Given the description of an element on the screen output the (x, y) to click on. 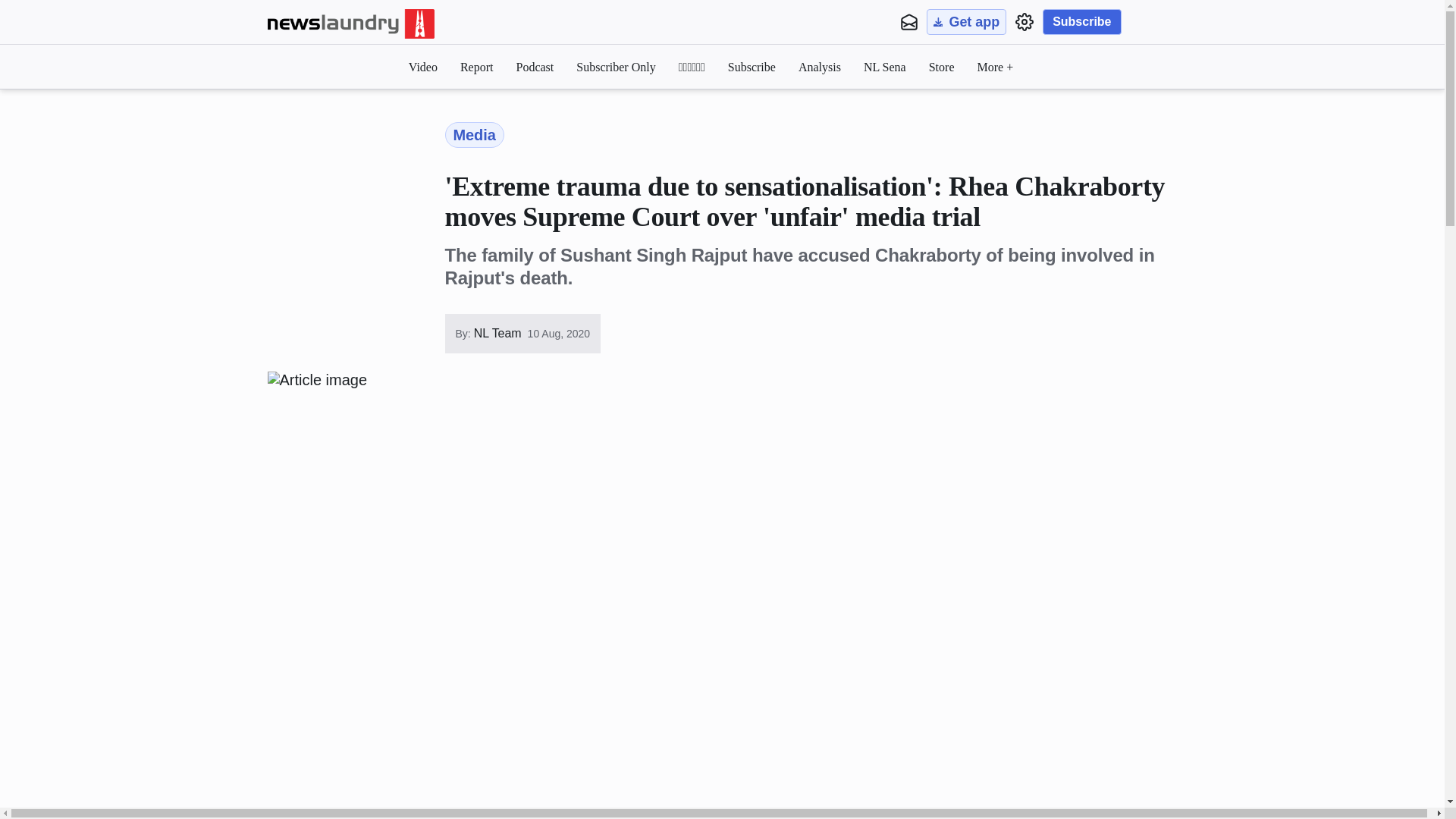
Get app (966, 22)
Subscribe (752, 66)
More (994, 66)
Report (476, 66)
2020-08-10 12:01 (559, 333)
Video (423, 66)
NL Sena (884, 66)
NL Team (495, 333)
Subscribe (1081, 22)
Subscriber Only (615, 66)
Media (473, 134)
Analysis (819, 66)
Podcast (534, 66)
Store (941, 66)
